Given the description of an element on the screen output the (x, y) to click on. 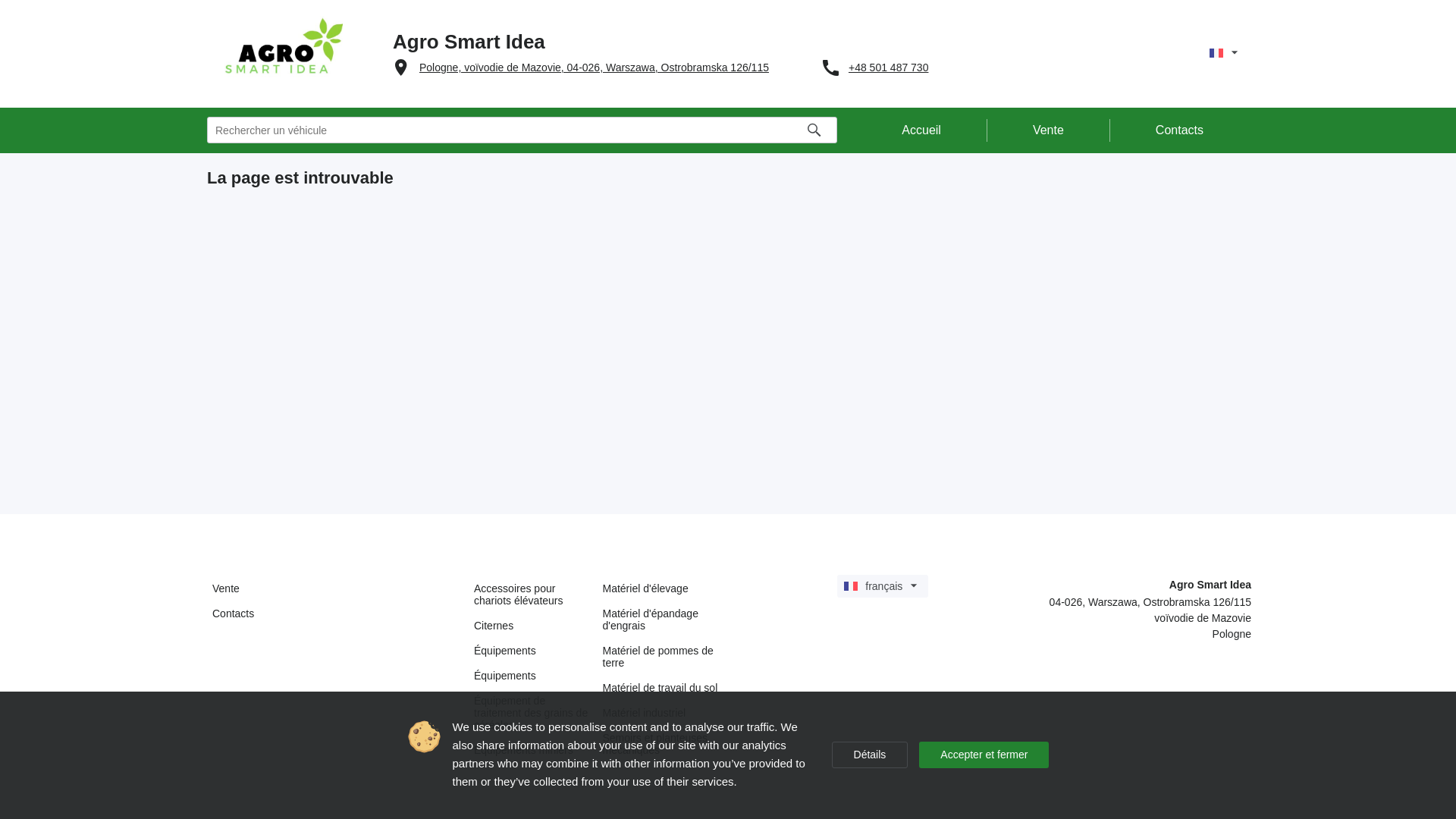
+48 501 487 730 Element type: text (888, 67)
Contacts Element type: text (335, 612)
Citernes Element type: text (532, 624)
Contacts Element type: text (1179, 130)
Accueil Element type: text (921, 130)
Vente Element type: text (1048, 130)
Vente Element type: text (335, 588)
